Given the description of an element on the screen output the (x, y) to click on. 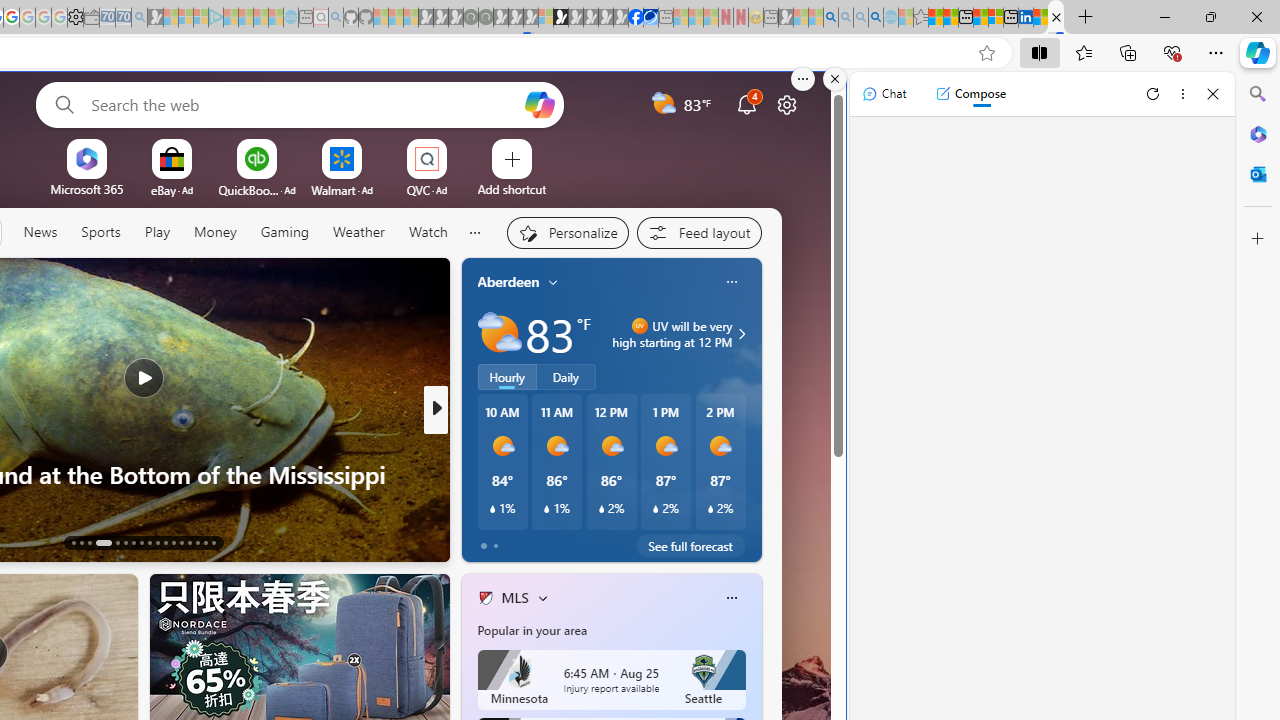
Future Focus Report 2024 - Sleeping (485, 17)
12 Lies You Were Told About Space (758, 506)
Class: weather-current-precipitation-glyph (710, 508)
76 Like (487, 541)
Feed settings (698, 232)
